Given the description of an element on the screen output the (x, y) to click on. 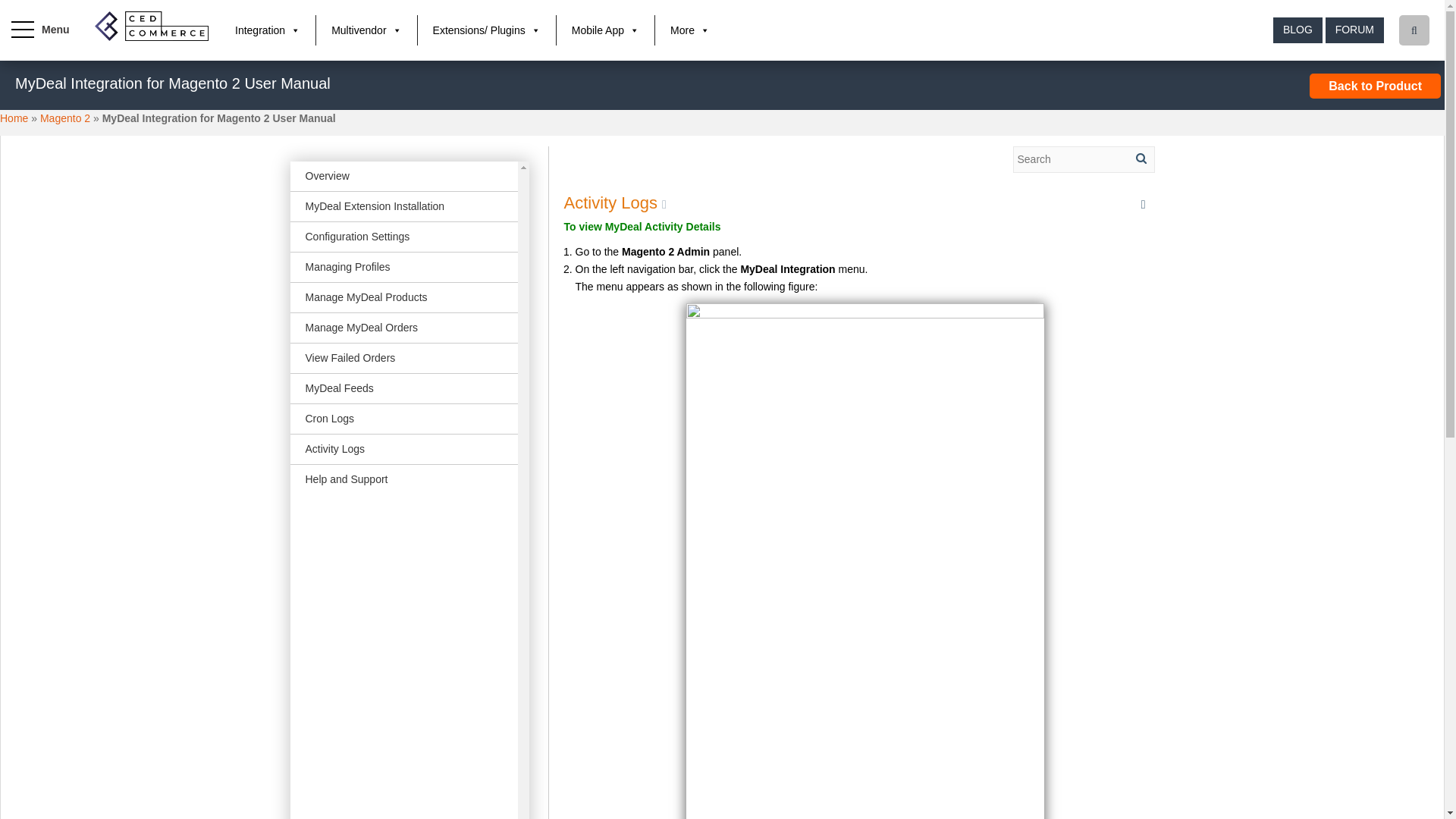
Mobile App (604, 30)
Integration (267, 30)
Multivendor (365, 30)
More (690, 30)
BLOG (1297, 30)
FORUM (1354, 30)
